Given the description of an element on the screen output the (x, y) to click on. 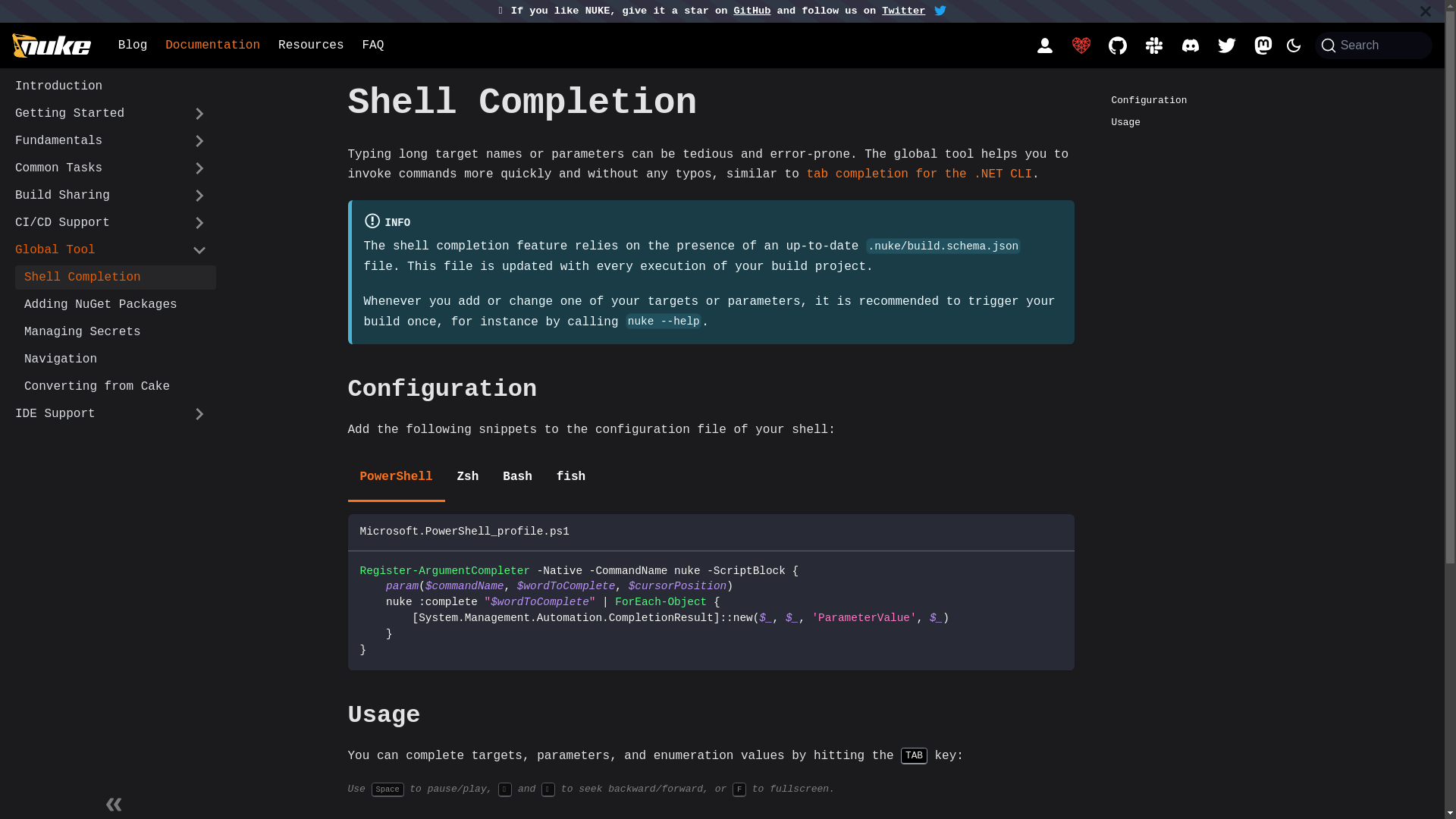
Navigation Element type: text (115, 359)
IDE Support Element type: text (111, 413)
Getting Started Element type: text (111, 113)
Managing Secrets Element type: text (115, 332)
CI/CD Support Element type: text (111, 222)
Switch between dark and light mode (currently dark mode) Element type: hover (1293, 45)
Build Sharing Element type: text (111, 195)
Fundamentals Element type: text (111, 140)
Resources Element type: text (310, 45)
Twitter Element type: text (903, 10)
Search Element type: text (1373, 45)
Global Tool Element type: text (111, 250)
Blog Element type: text (132, 45)
Introduction Element type: text (111, 86)
Common Tasks Element type: text (111, 168)
GitHub Element type: text (751, 10)
tab completion for the .NET CLI Element type: text (919, 174)
Adding NuGet Packages Element type: text (115, 304)
Converting from Cake Element type: text (115, 386)
FAQ Element type: text (373, 45)
Shell Completion Element type: text (115, 277)
Usage Element type: text (1214, 122)
Documentation Element type: text (212, 45)
Configuration Element type: text (1214, 100)
